Given the description of an element on the screen output the (x, y) to click on. 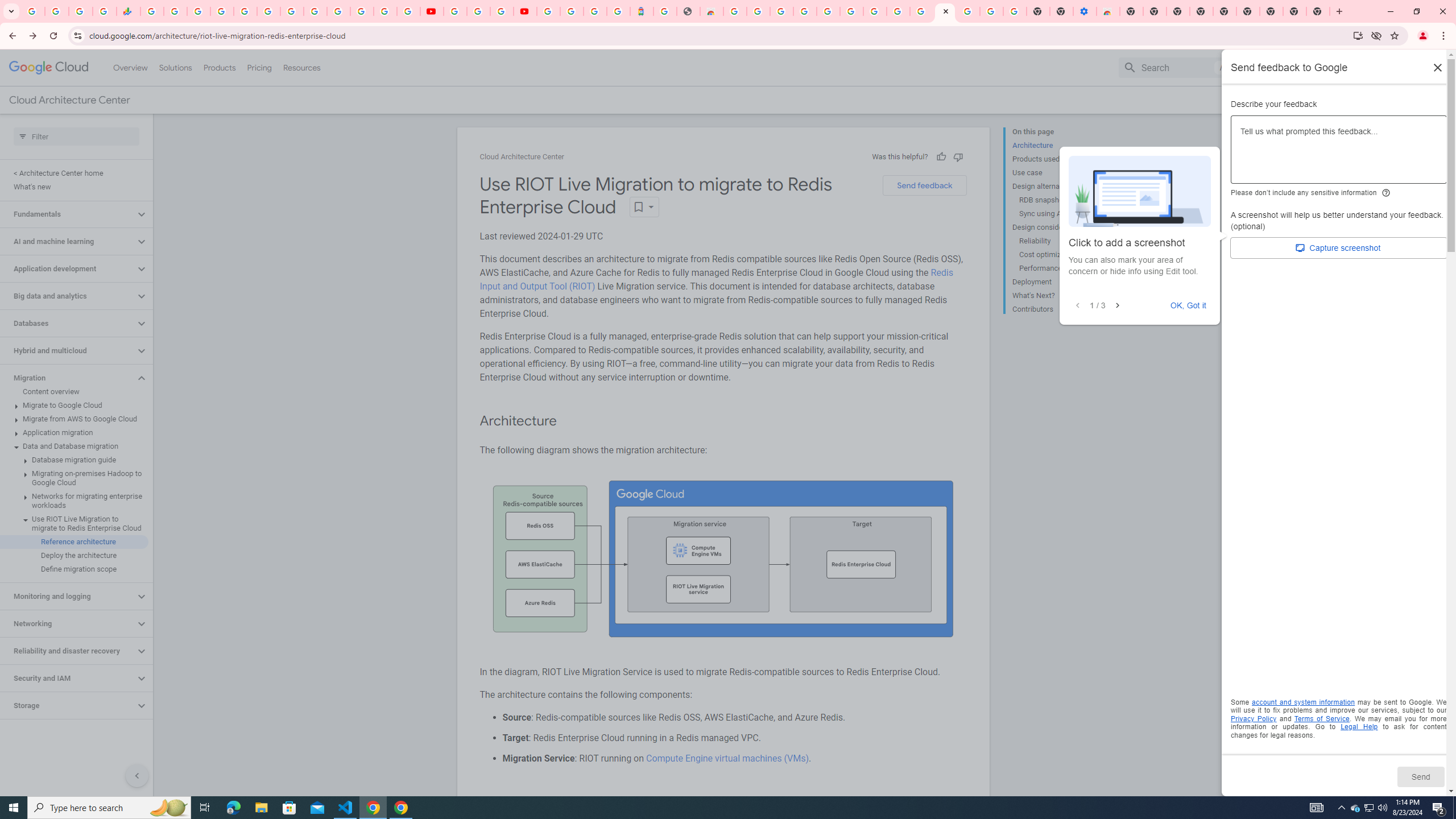
Application development (67, 269)
Hide side navigation (136, 775)
Database migration guide (74, 459)
Deployment (1058, 282)
YouTube (454, 11)
Databases (67, 323)
English (1359, 67)
Big data and analytics (67, 296)
Helpful (940, 156)
Use RIOT Live Migration to migrate to Redis Enterprise Cloud (74, 523)
OK, Got it (1188, 305)
